Given the description of an element on the screen output the (x, y) to click on. 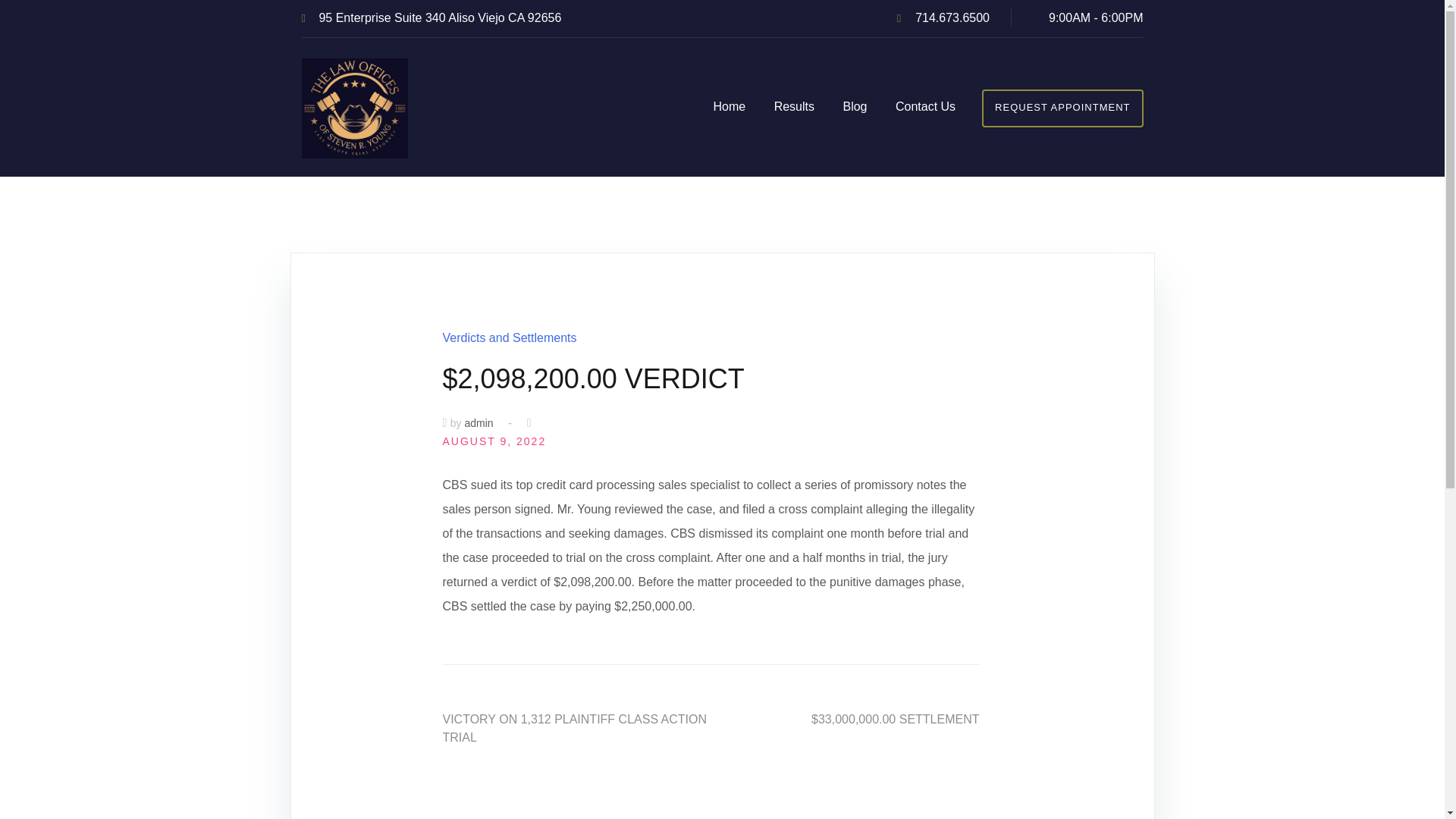
admin (478, 422)
Results (793, 107)
AUGUST 9, 2022 (494, 440)
REQUEST APPOINTMENT (1061, 108)
Home (729, 107)
Blog (854, 107)
VICTORY ON 1,312 PLAINTIFF CLASS ACTION TRIAL (574, 727)
Verdicts and Settlements (509, 337)
Contact Us (925, 107)
